Given the description of an element on the screen output the (x, y) to click on. 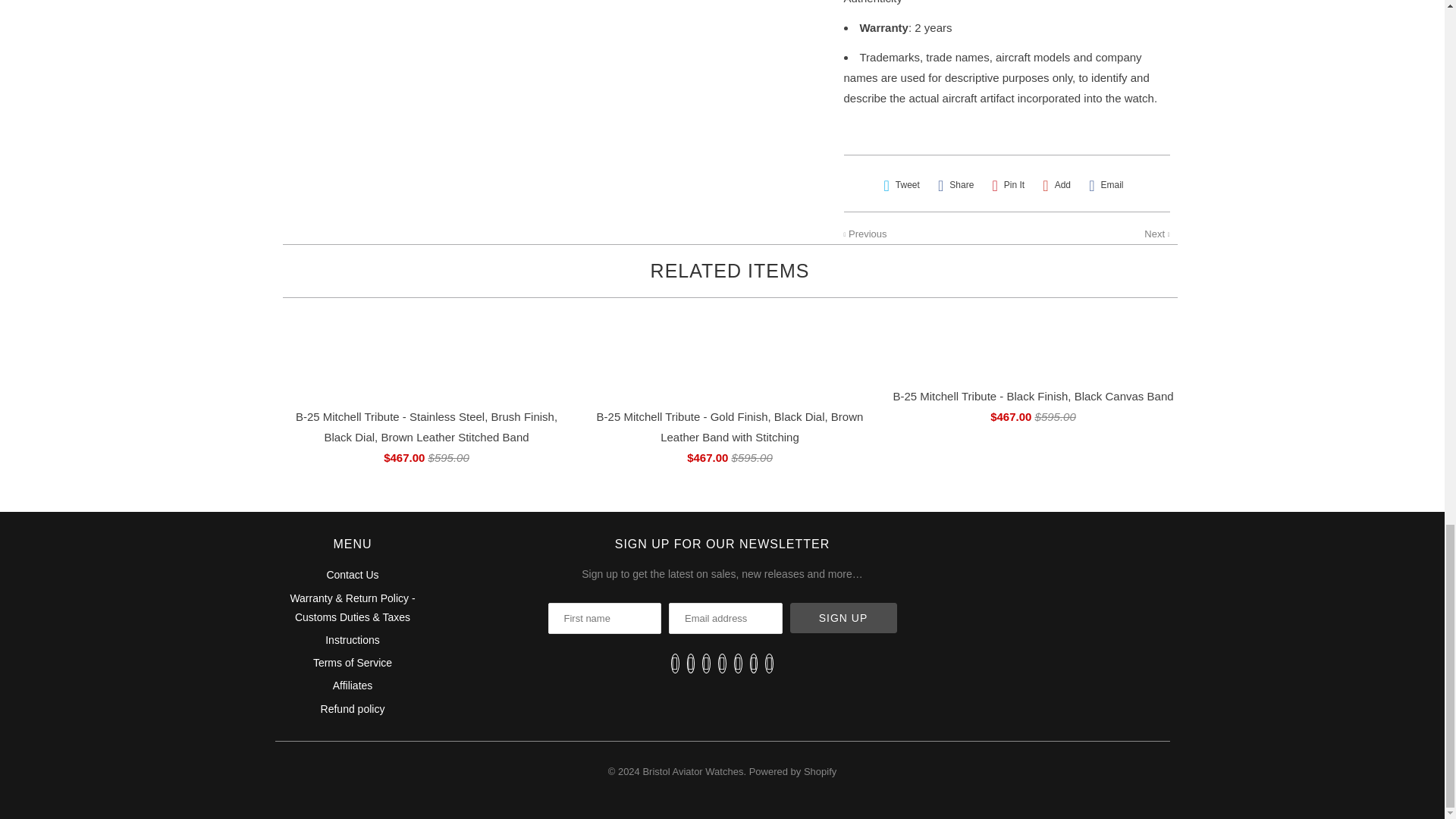
Previous (864, 233)
Sign Up (843, 617)
Bristol Aviator Watches on Facebook (691, 663)
Pin It (1008, 185)
Share this on Facebook (955, 185)
Bristol Aviator Watches on Pinterest (721, 663)
Share (955, 185)
Bristol Aviator Watches on YouTube (705, 663)
Refund policy (352, 708)
Share this on Twitter (901, 185)
Tweet (901, 185)
Terms of Service (352, 662)
Sign Up (843, 617)
Contact Us (352, 574)
Add (1056, 185)
